Given the description of an element on the screen output the (x, y) to click on. 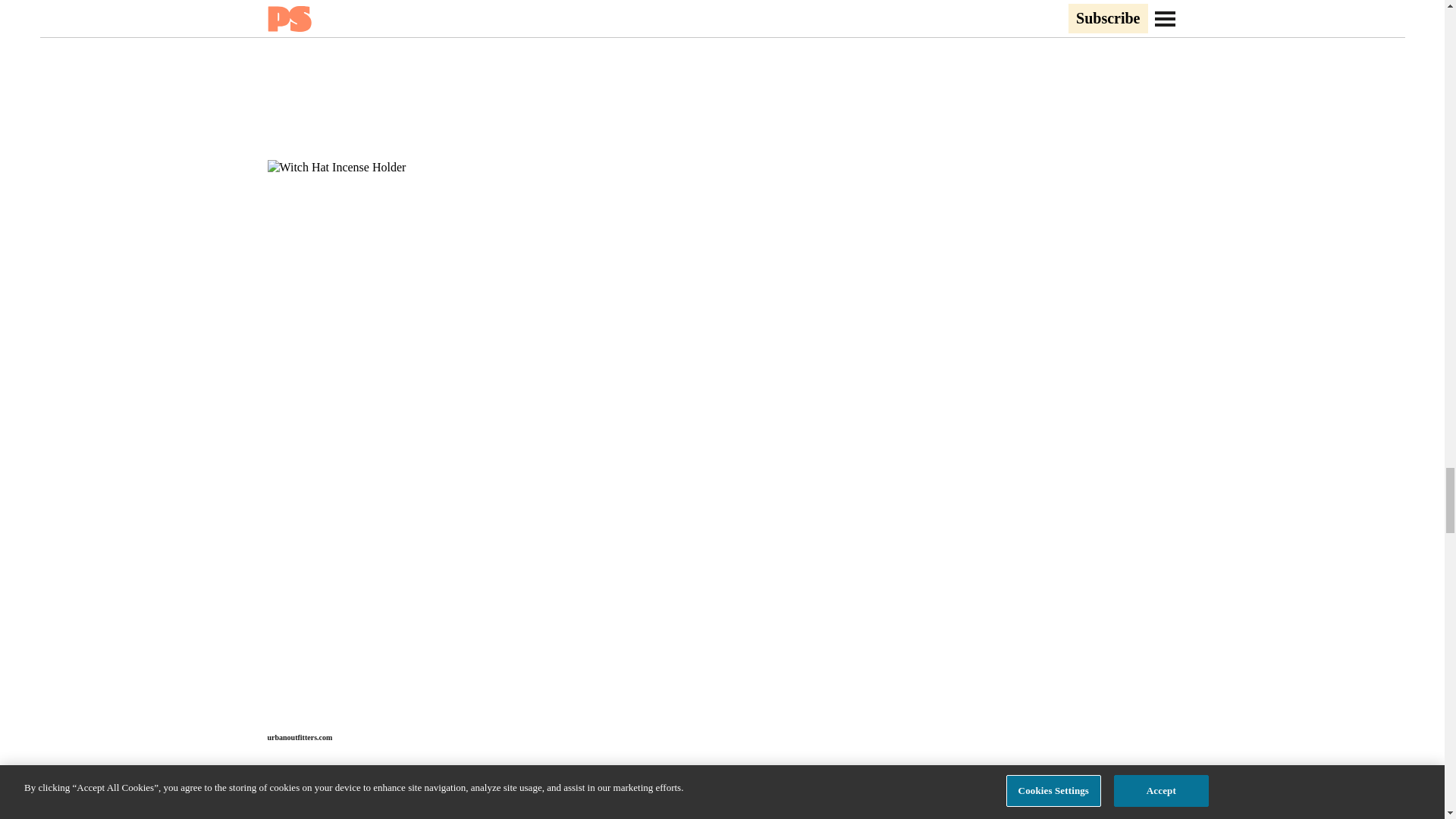
urbanoutfitters.com (298, 737)
Witch Hat Incense Holder (333, 806)
